Given the description of an element on the screen output the (x, y) to click on. 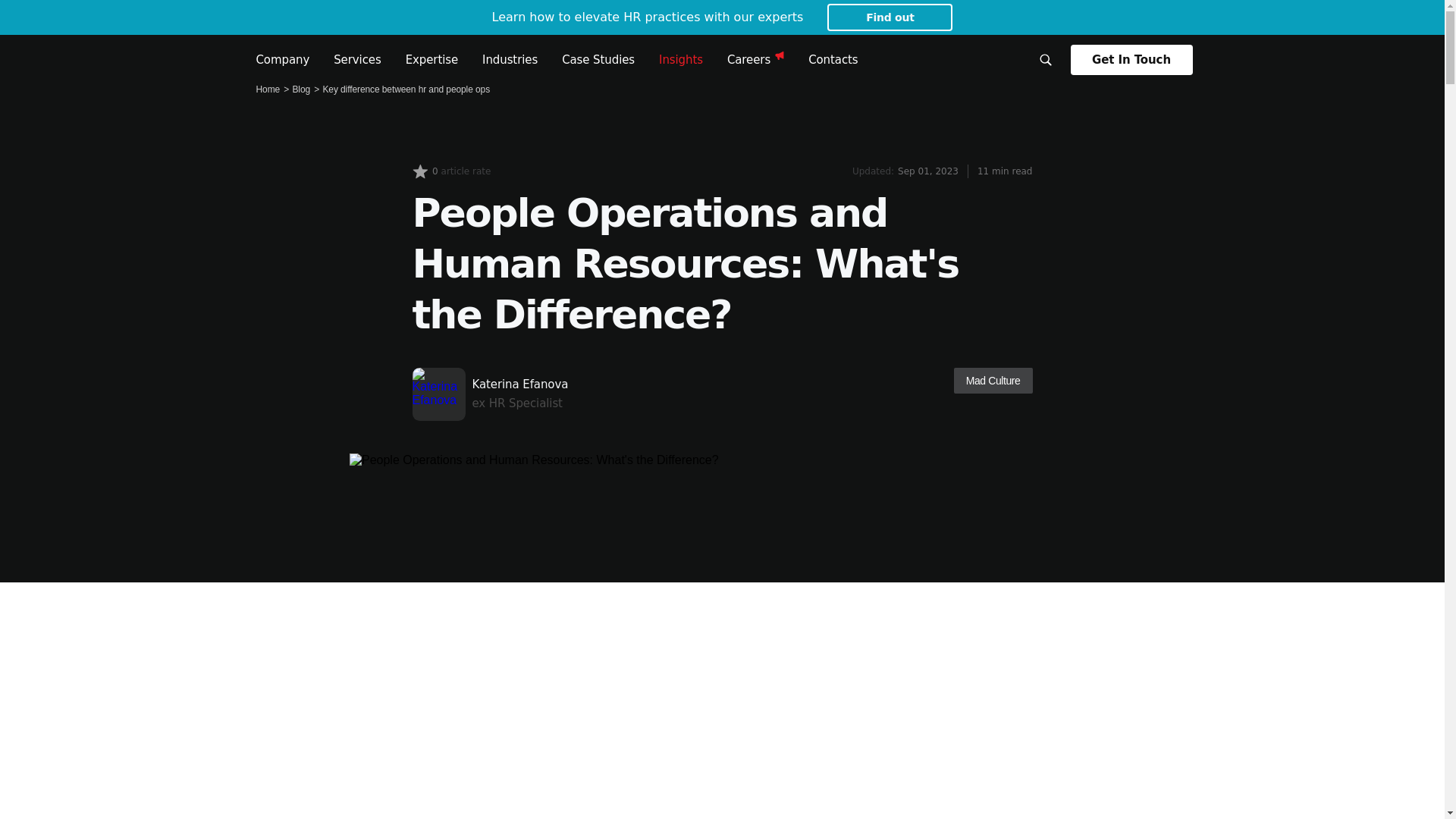
Blog (301, 89)
Expertise (432, 58)
Case Studies (598, 58)
Mad Culture (992, 380)
Katerina Efanova (519, 394)
Get In Touch (1131, 60)
Blog (301, 89)
Find out (889, 17)
Company (283, 58)
Careers (755, 58)
